Given the description of an element on the screen output the (x, y) to click on. 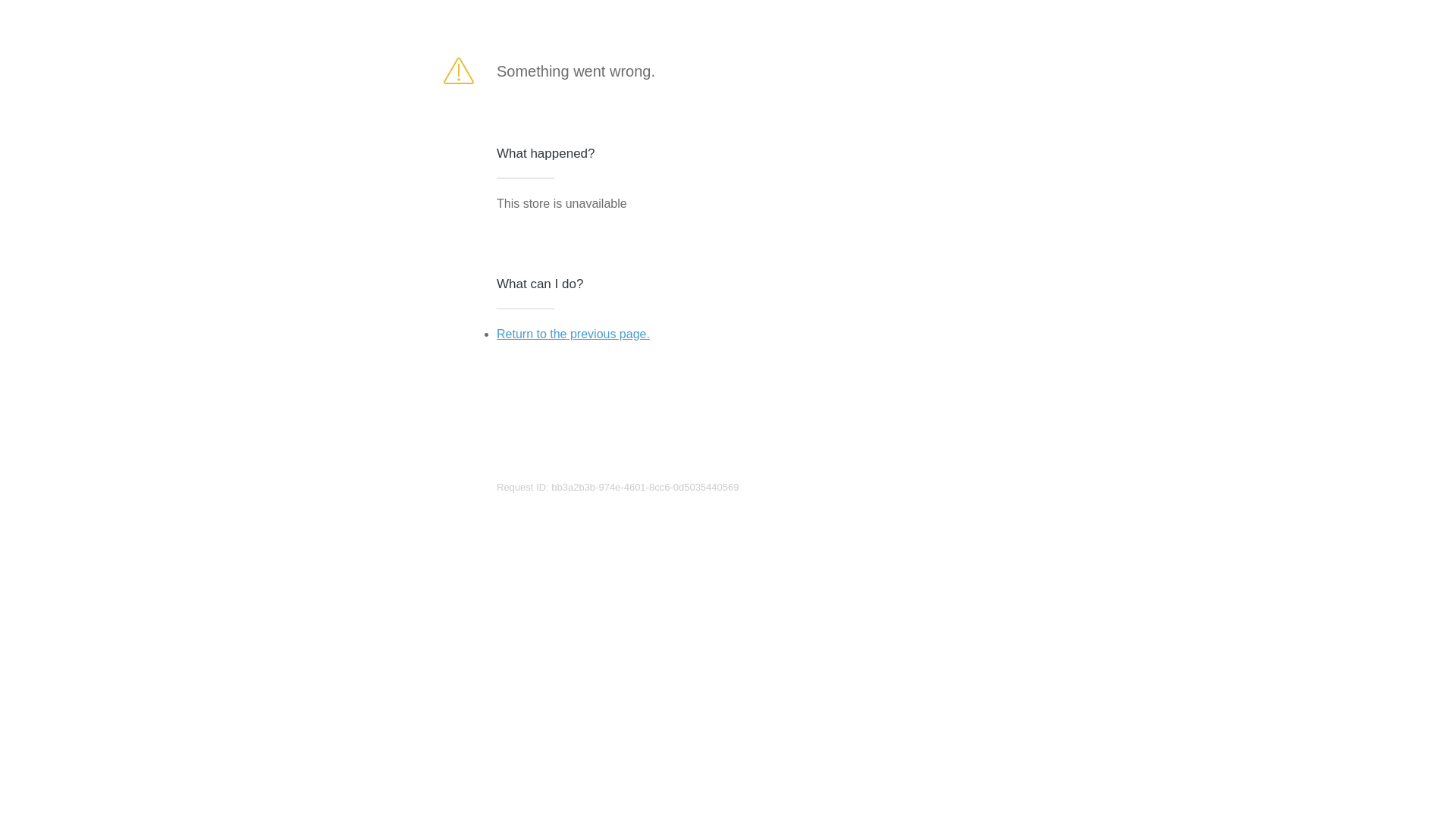
Return to the previous page. Element type: text (572, 333)
